Given the description of an element on the screen output the (x, y) to click on. 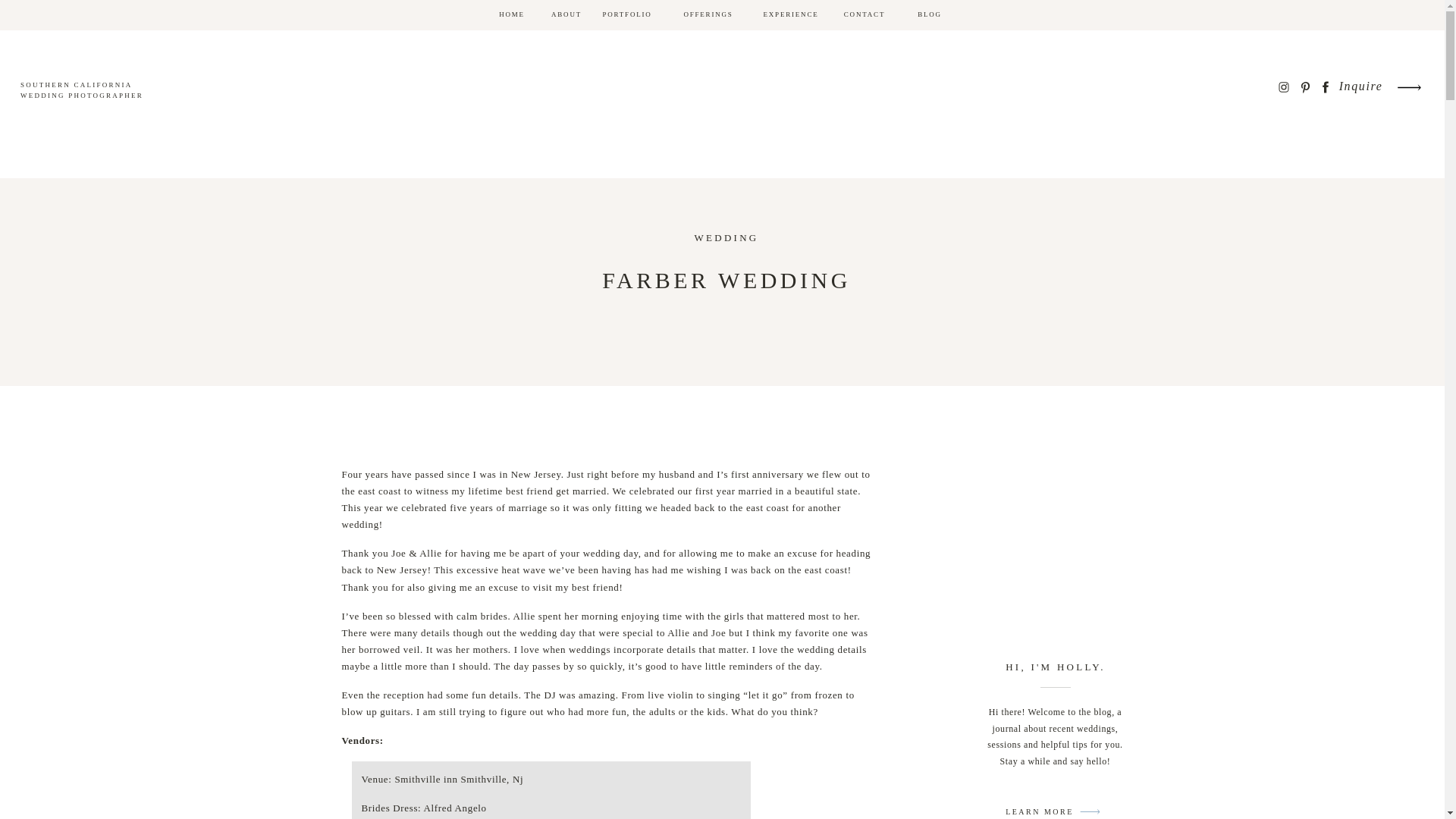
arrow (1408, 87)
OFFERINGS (708, 15)
ABOUT (565, 15)
WEDDING (726, 237)
arrow (1408, 87)
EXPERIENCE (790, 15)
HOME (510, 15)
LEARN MORE (1039, 812)
Inquire  (1361, 86)
arrow (1089, 806)
